Given the description of an element on the screen output the (x, y) to click on. 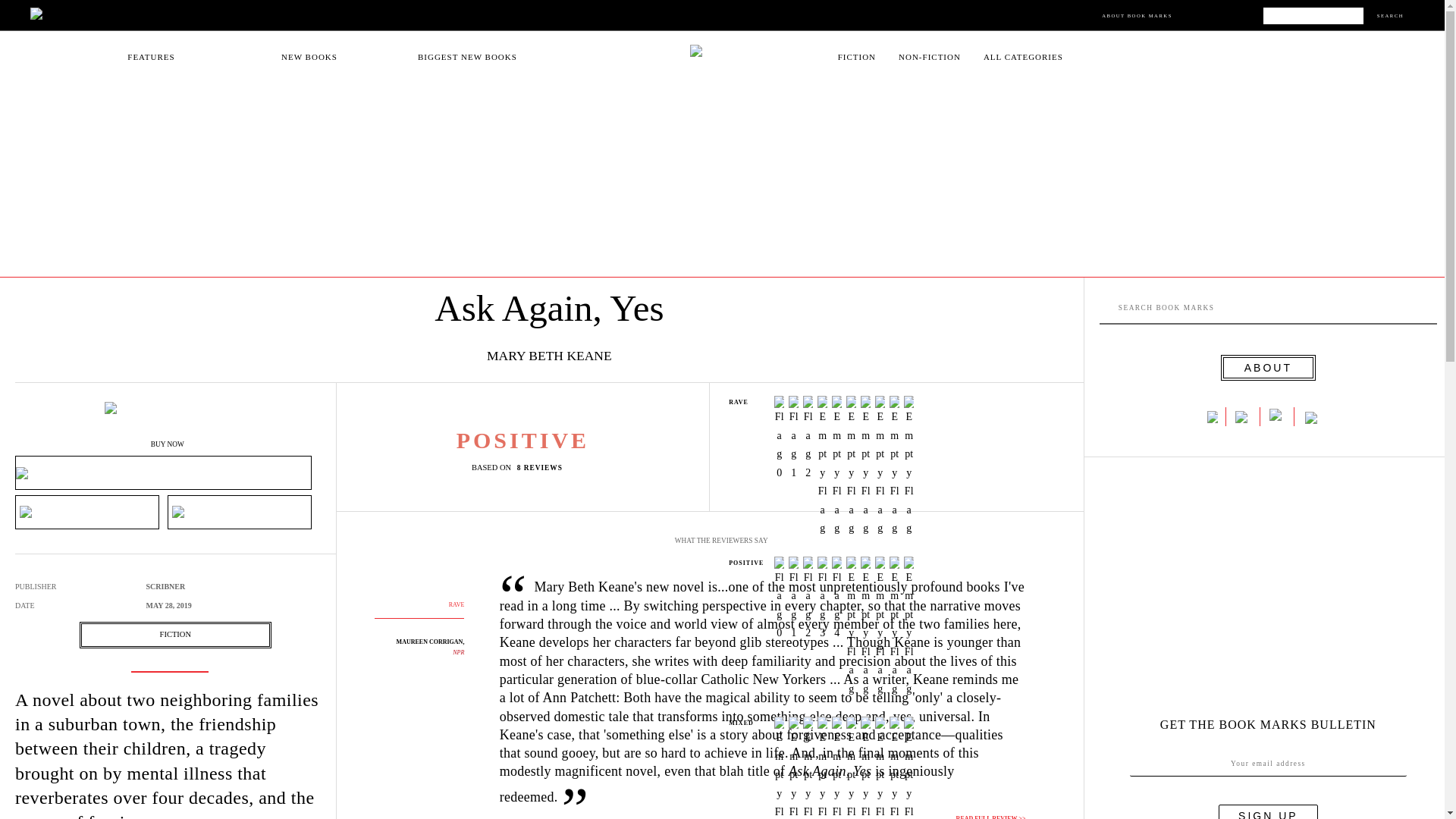
NON-FICTION (929, 56)
FICTION (175, 633)
ABOUT BOOK MARKS (1137, 15)
SEARCH (1390, 15)
NEW BOOKS (309, 56)
MAUREEN CORRIGAN, (430, 641)
Sign up (1267, 811)
8 REVIEWS (543, 467)
